Given the description of an element on the screen output the (x, y) to click on. 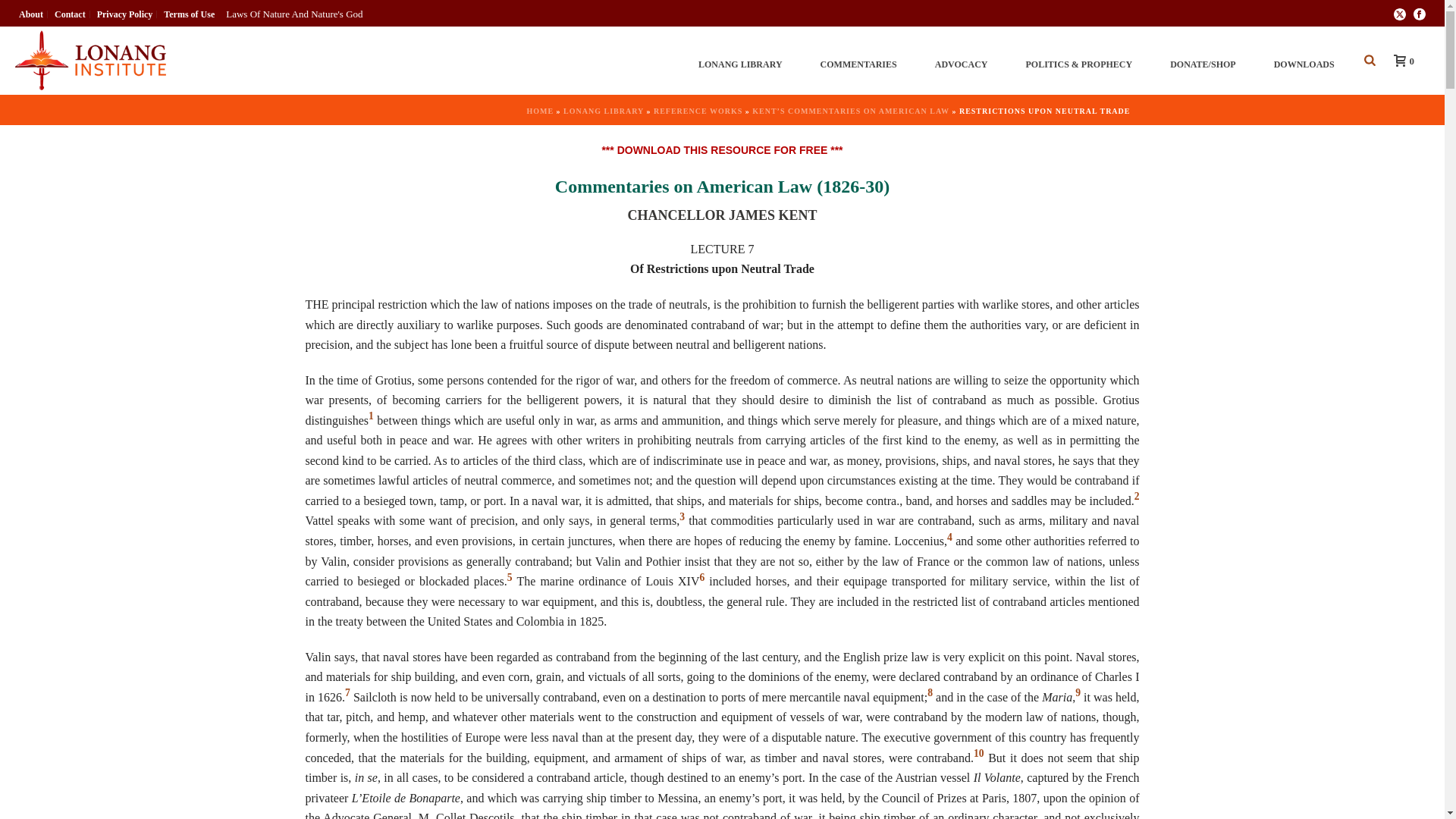
ADVOCACY (961, 60)
LONANG LIBRARY (740, 60)
ADVOCACY (961, 60)
LONANG LIBRARY (740, 60)
About (31, 14)
DOWNLOADS (1304, 60)
COMMENTARIES (858, 60)
Terms of Use (189, 14)
The Laws Of Nature And Natures God (89, 60)
Contact (70, 14)
